Given the description of an element on the screen output the (x, y) to click on. 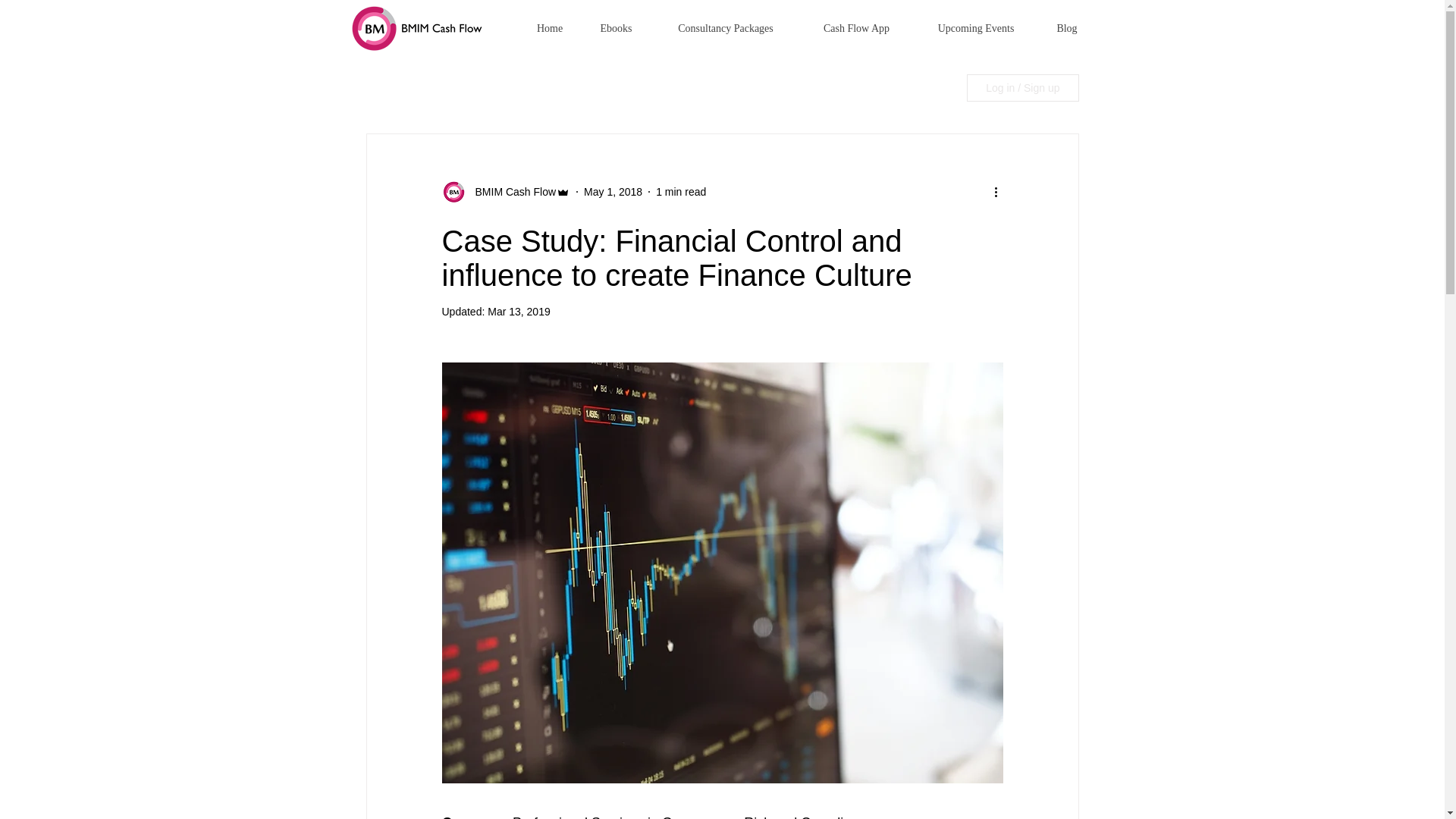
Consultancy Packages (725, 28)
Ebooks (614, 28)
Mar 13, 2019 (518, 311)
Case Study (873, 87)
1 min read (681, 191)
BMIM Cash Flow (510, 191)
Cash Flow and Business Value (515, 87)
Blog (1066, 28)
Upcoming Events (975, 28)
Money for Growth (665, 87)
Cash Flow App (856, 28)
Home (549, 28)
All Blogs (386, 87)
May 1, 2018 (612, 191)
Money Mindset (777, 87)
